Given the description of an element on the screen output the (x, y) to click on. 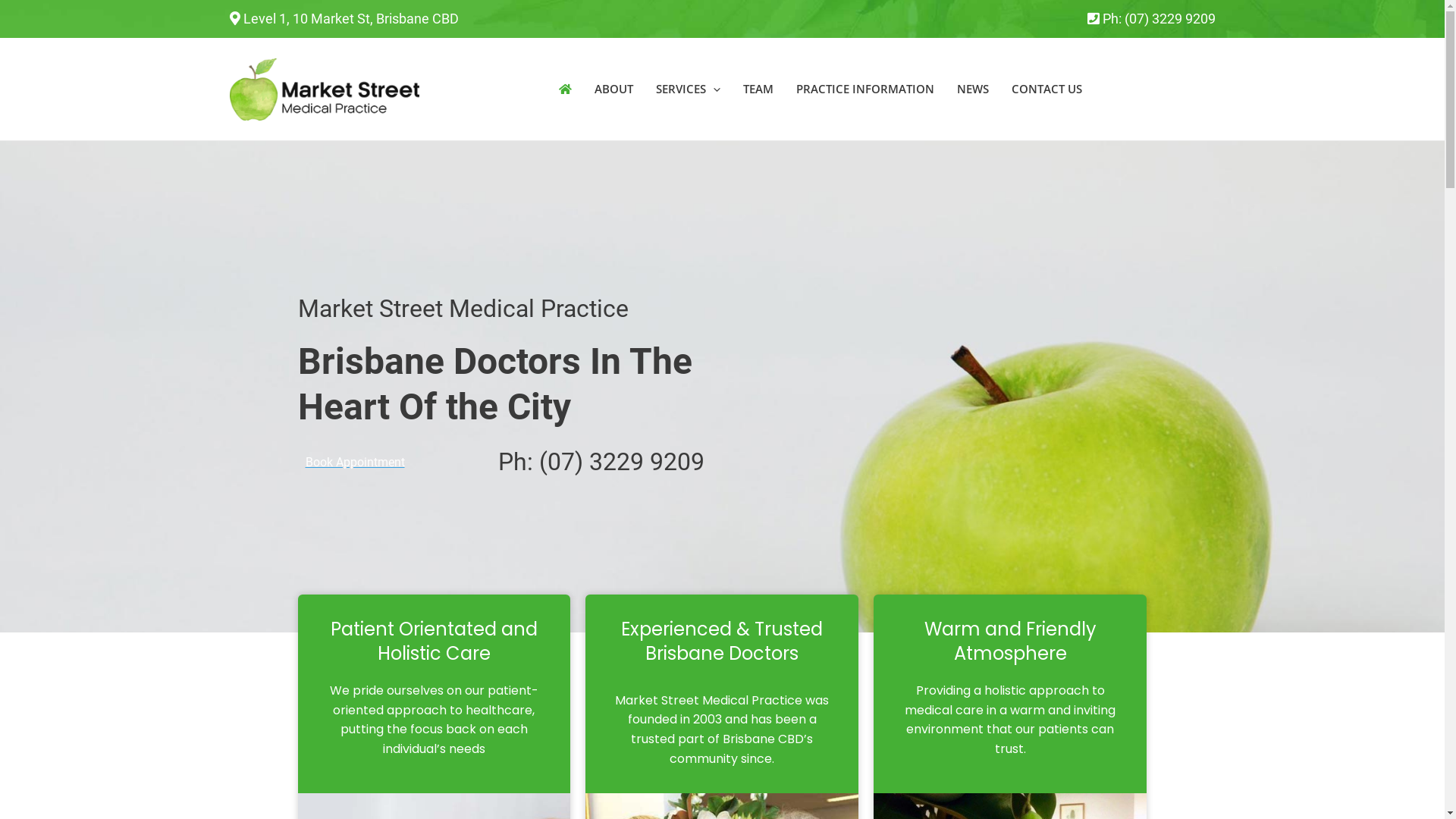
NEWS Element type: text (971, 88)
ABOUT Element type: text (612, 88)
CONTACT US Element type: text (1045, 88)
Ph: (07) 3229 9209 Element type: text (1158, 18)
TEAM Element type: text (757, 88)
Book Appointment Element type: text (1158, 88)
PRACTICE INFORMATION Element type: text (864, 88)
Book Appointment Element type: text (354, 462)
SERVICES Element type: text (687, 88)
